Given the description of an element on the screen output the (x, y) to click on. 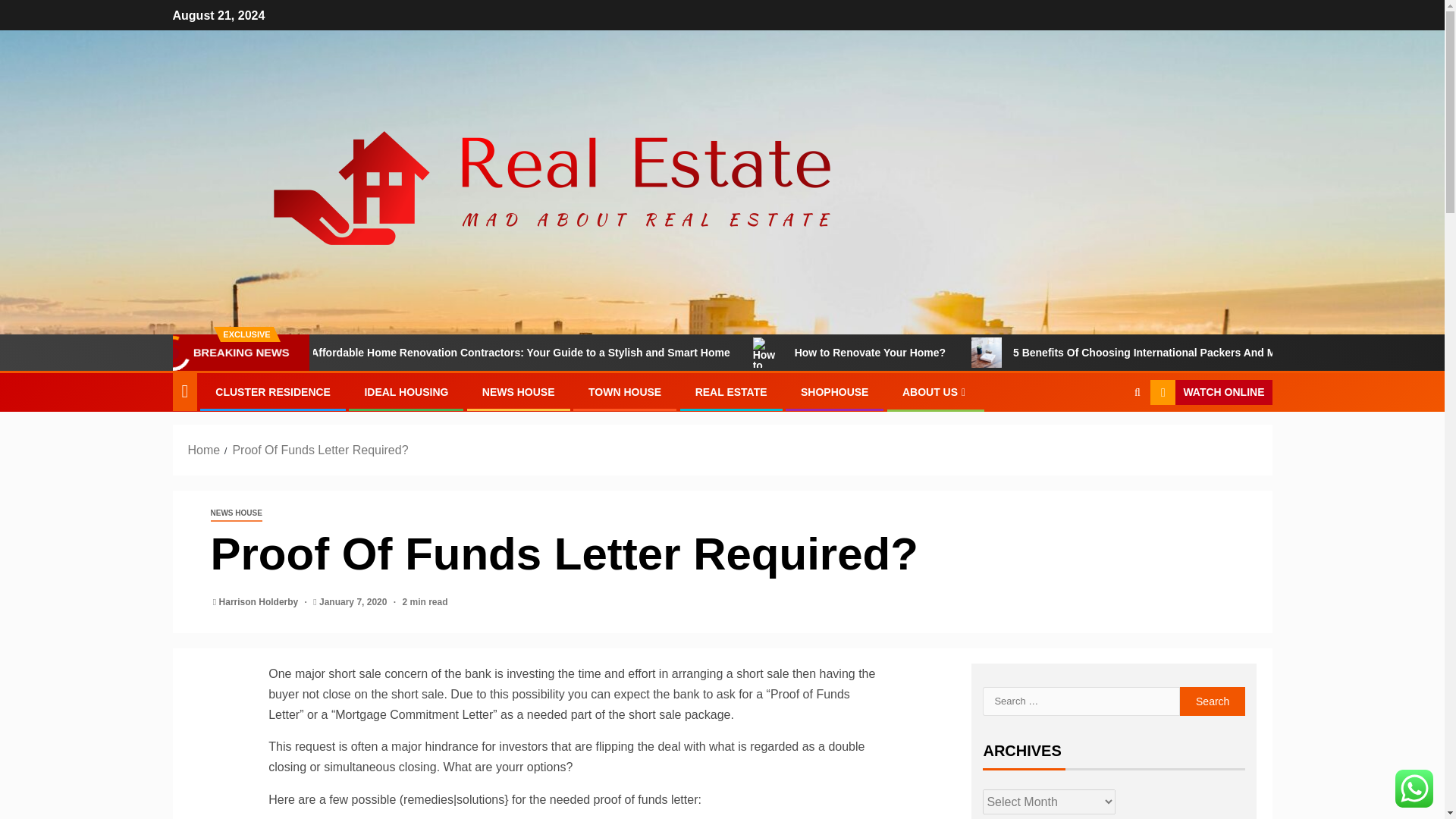
Proof Of Funds Letter Required? (319, 449)
NEWS HOUSE (517, 391)
Home (204, 449)
5 Benefits Of Choosing International Packers And Movers (1069, 352)
Search (1107, 439)
Search (1212, 701)
REAL ESTATE (731, 391)
WATCH ONLINE (1210, 392)
ABOUT US (935, 391)
